Given the description of an element on the screen output the (x, y) to click on. 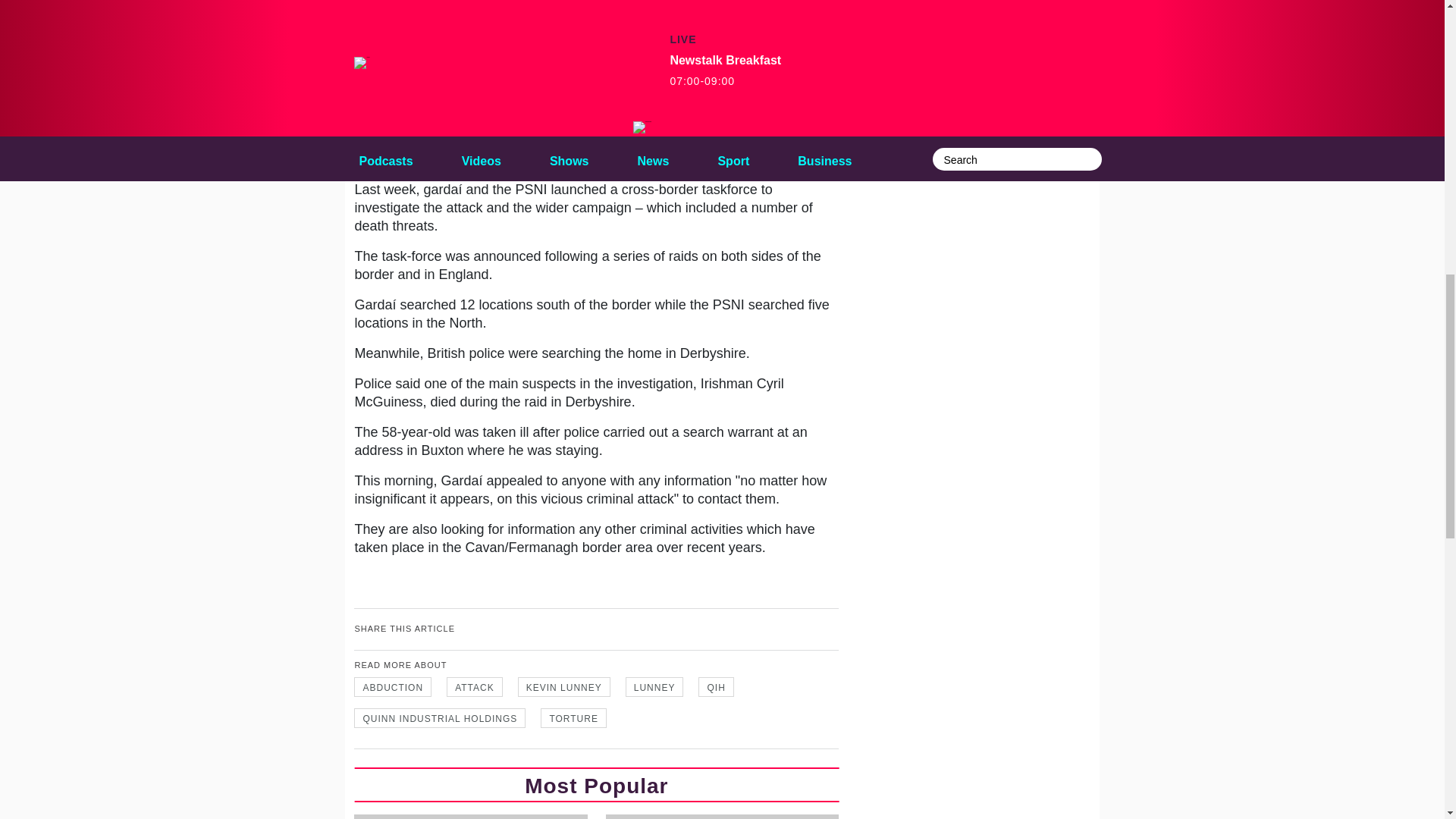
LUNNEY (655, 686)
ABDUCTION (391, 686)
QUINN INDUSTRIAL HOLDINGS (439, 718)
KEVIN LUNNEY (564, 686)
TORTURE (573, 718)
kidnapped and brutally assaulted (558, 92)
Expert calls for crackdown on dermal fillers (469, 816)
ATTACK (474, 686)
QIH (715, 686)
